Given the description of an element on the screen output the (x, y) to click on. 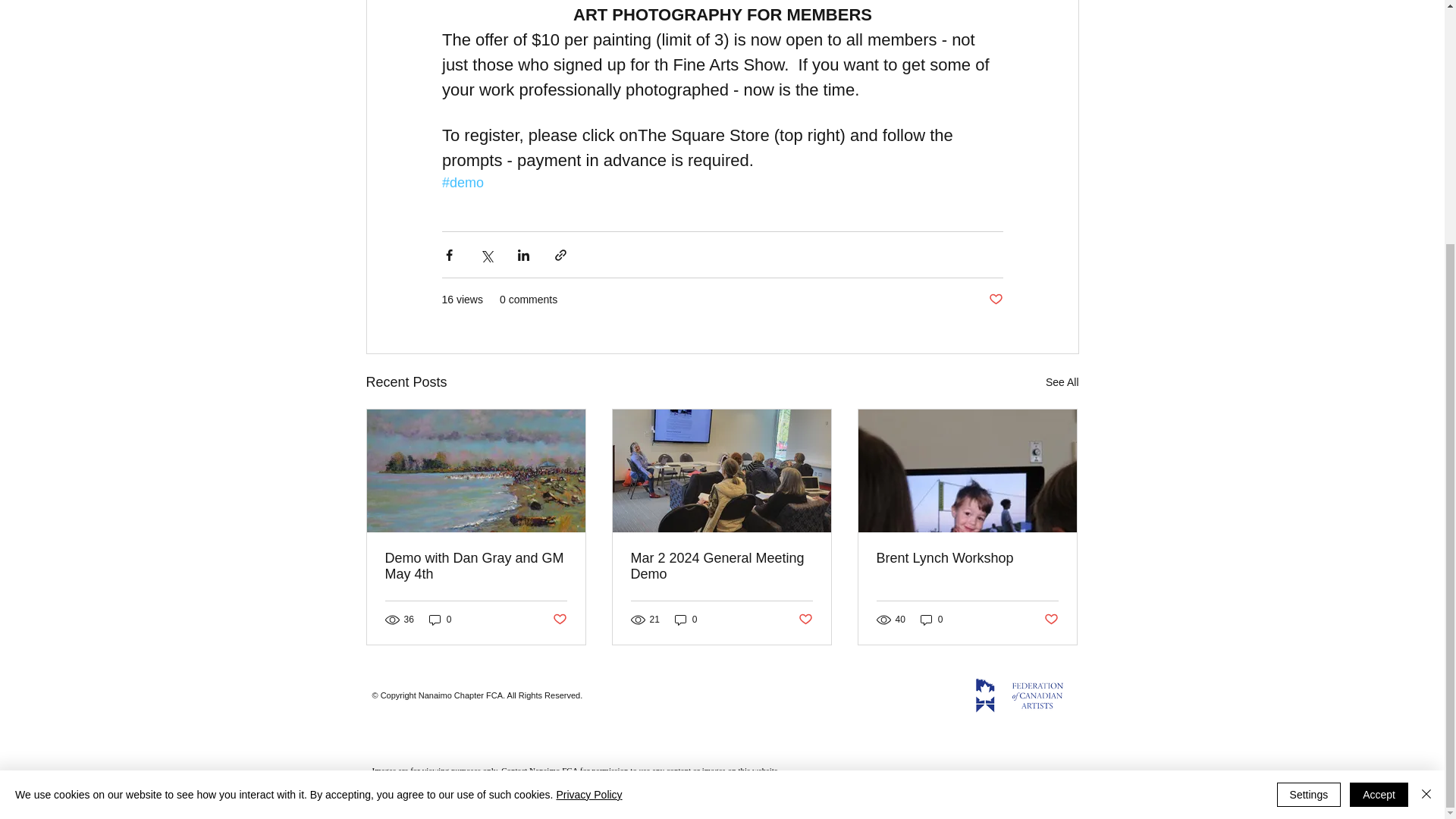
0 (440, 618)
See All (1061, 382)
Demo with Dan Gray and GM May 4th (476, 566)
Post not marked as liked (995, 299)
Post not marked as liked (558, 619)
Mar 2 2024 General Meeting Demo (721, 566)
